Given the description of an element on the screen output the (x, y) to click on. 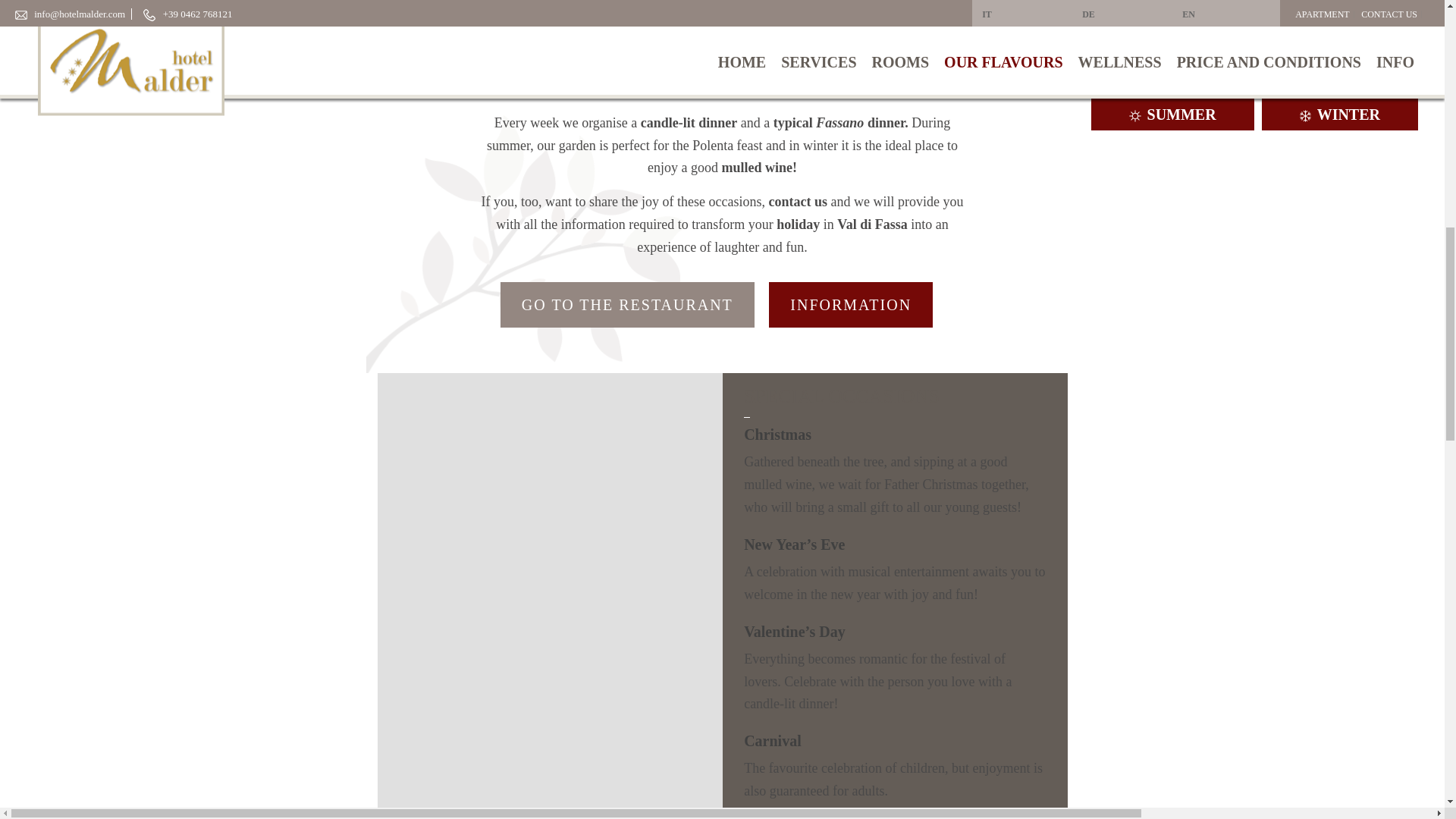
GO TO THE RESTAURANT (627, 304)
INFORMATION (850, 304)
